Given the description of an element on the screen output the (x, y) to click on. 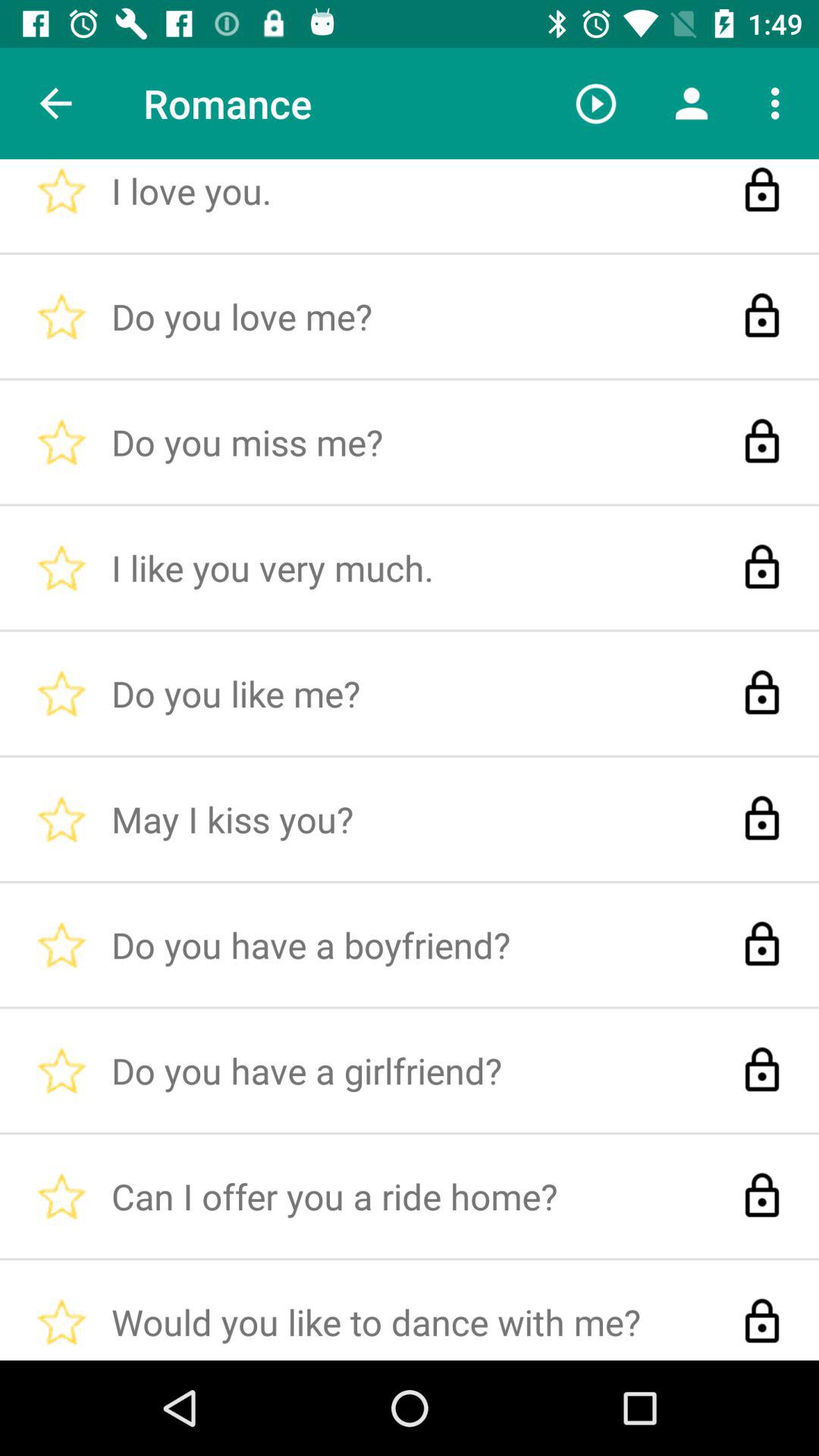
turn on item to the left of the i love you. icon (55, 103)
